Given the description of an element on the screen output the (x, y) to click on. 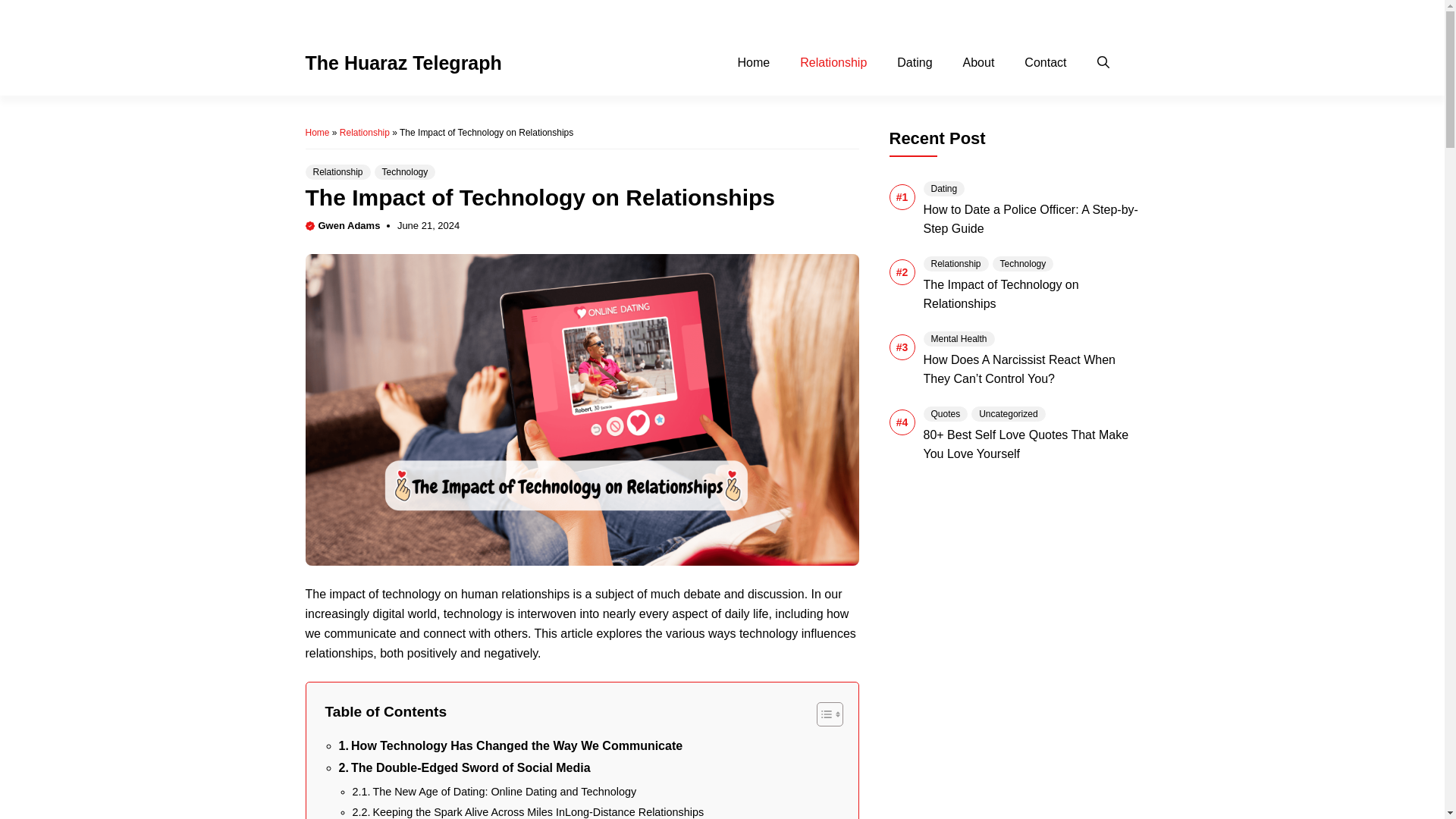
Home (316, 132)
The New Age of Dating: Online Dating and Technology (494, 791)
Contact Us (1017, 15)
Home (754, 62)
About (978, 62)
Gwen Adams (349, 225)
Dating (914, 62)
Privacy Policy (877, 15)
About (949, 15)
How Technology Has Changed the Way We Communicate  (511, 745)
Technology (405, 171)
Relationship (833, 62)
